Given the description of an element on the screen output the (x, y) to click on. 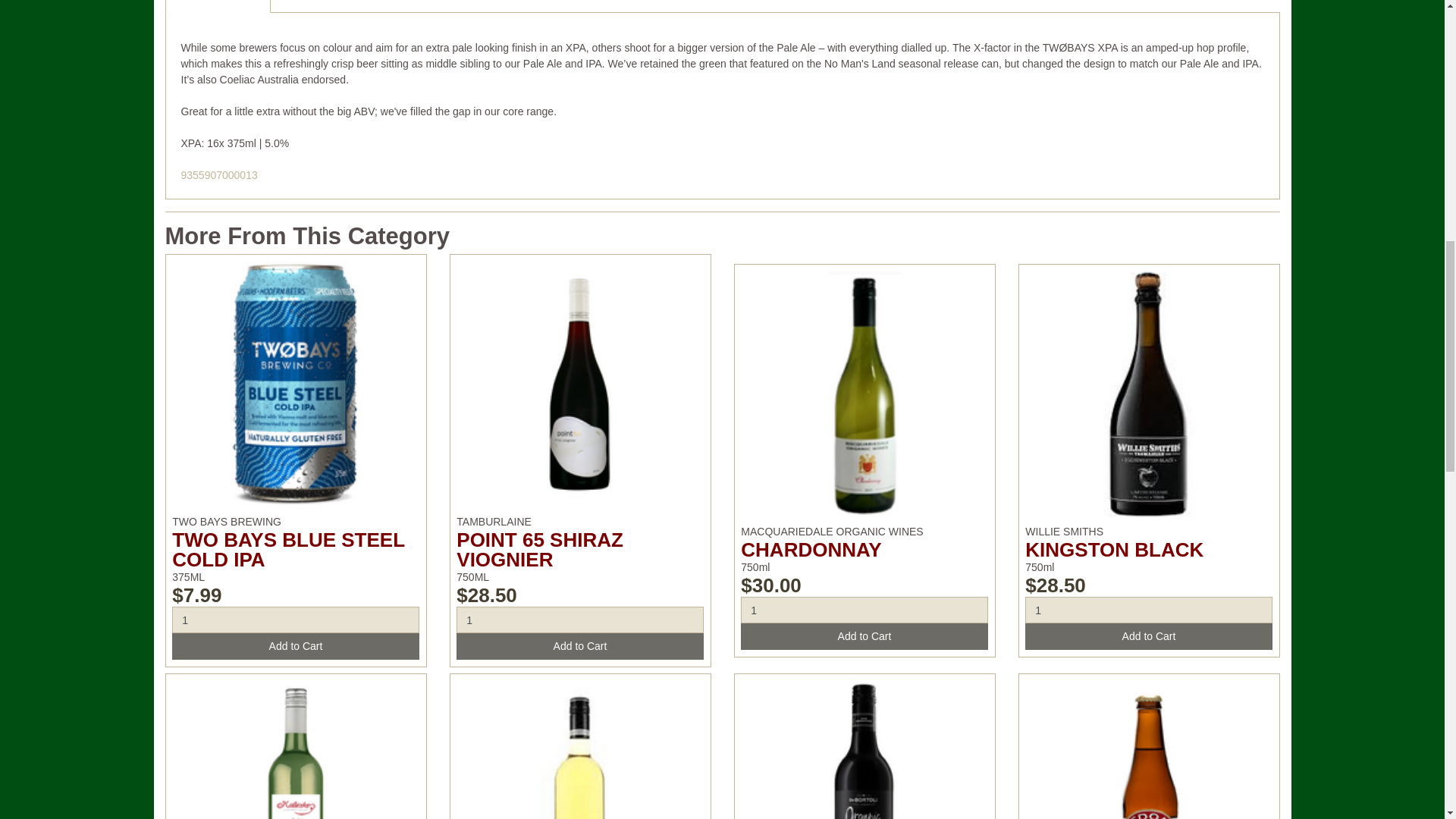
1 (1148, 610)
1 (580, 619)
Add CHARDONNAY to Cart (864, 636)
Add POINT 65 SHIRAZ VIOGNIER to Cart (580, 646)
1 (864, 610)
1 (295, 619)
Add TWO BAYS BLUE STEEL COLD IPA to Cart (295, 646)
Add KINGSTON BLACK to Cart (1148, 636)
